Given the description of an element on the screen output the (x, y) to click on. 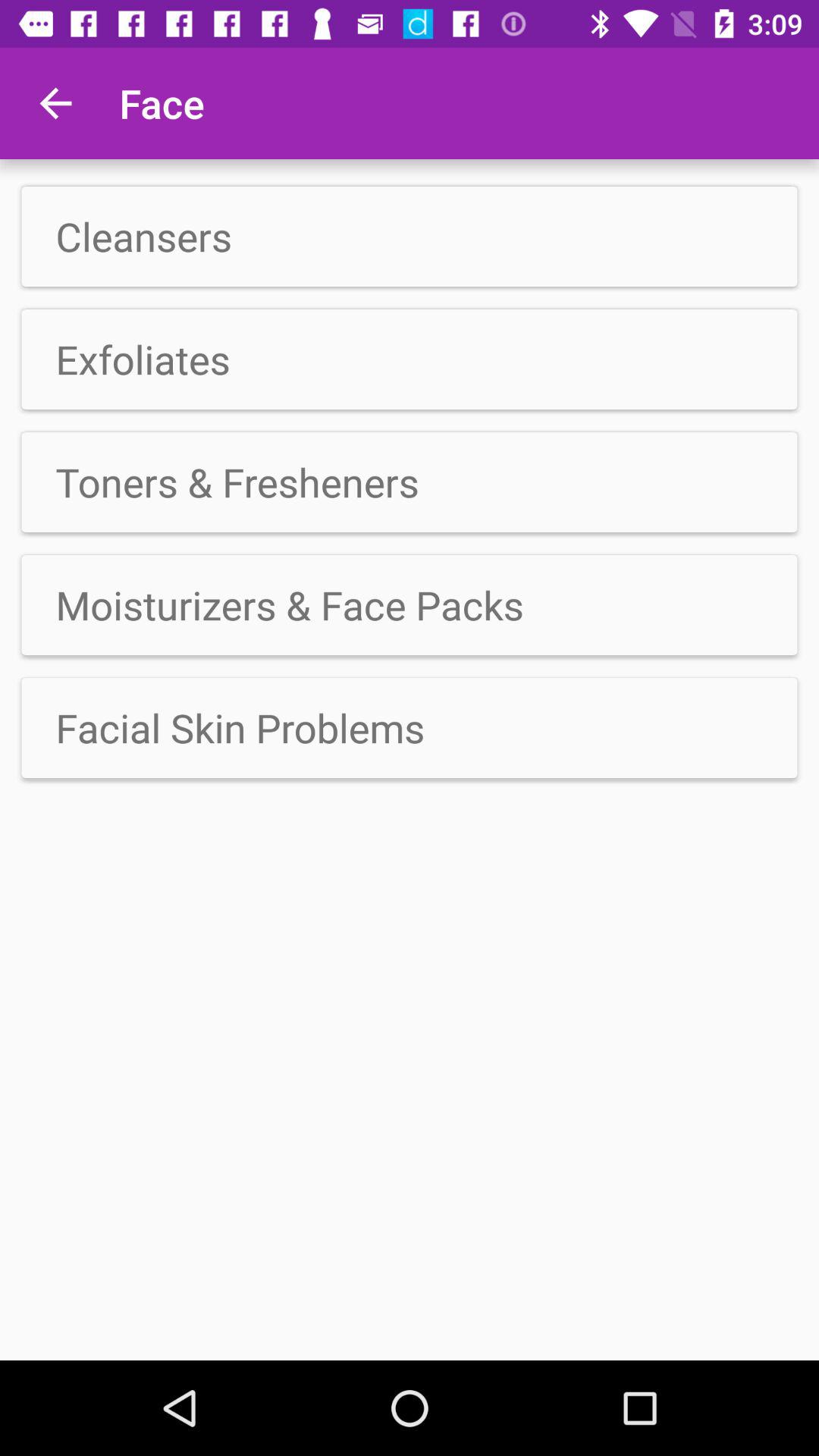
press the icon below the toners & fresheners item (409, 604)
